Given the description of an element on the screen output the (x, y) to click on. 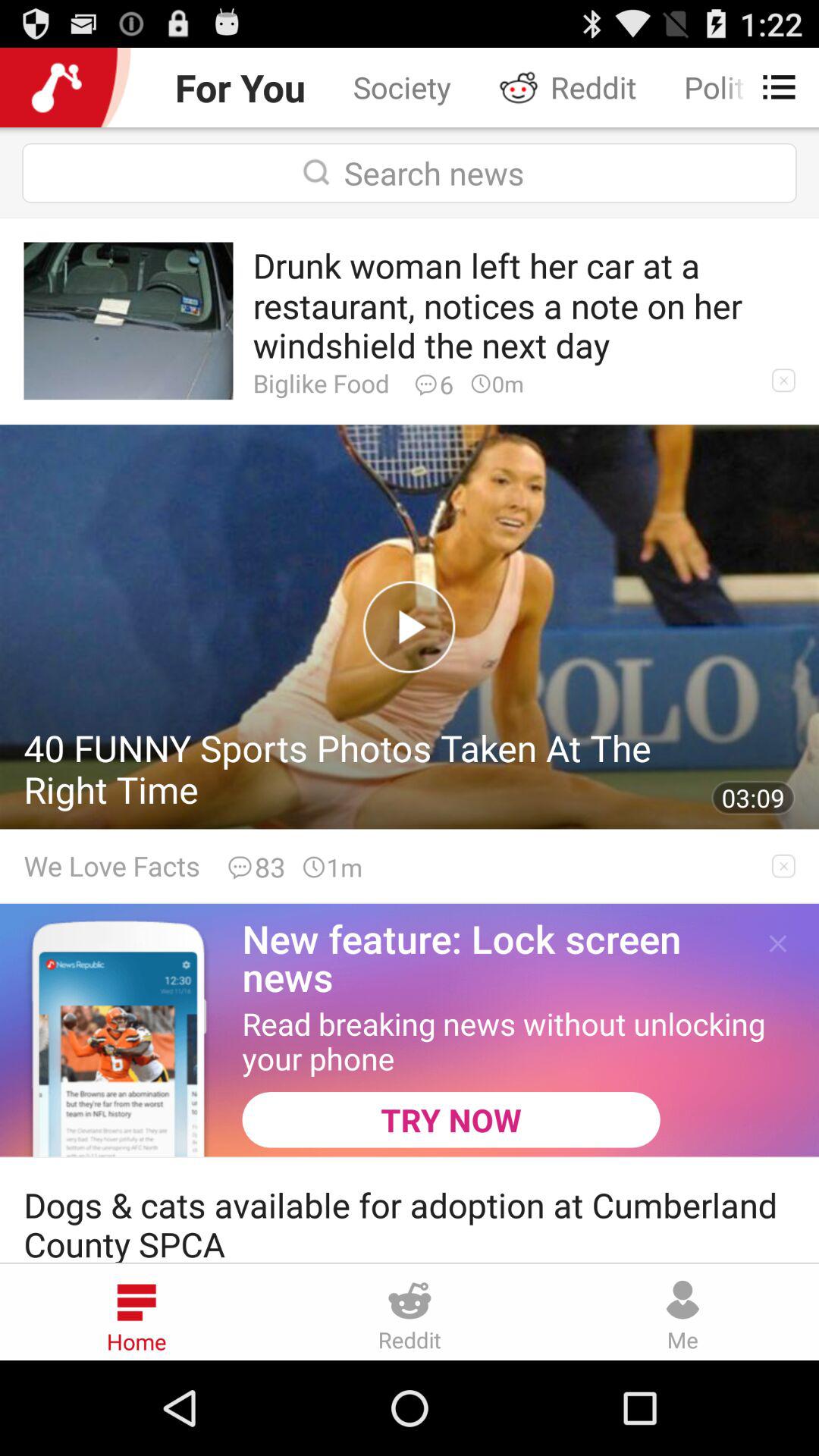
jump to society (401, 87)
